Given the description of an element on the screen output the (x, y) to click on. 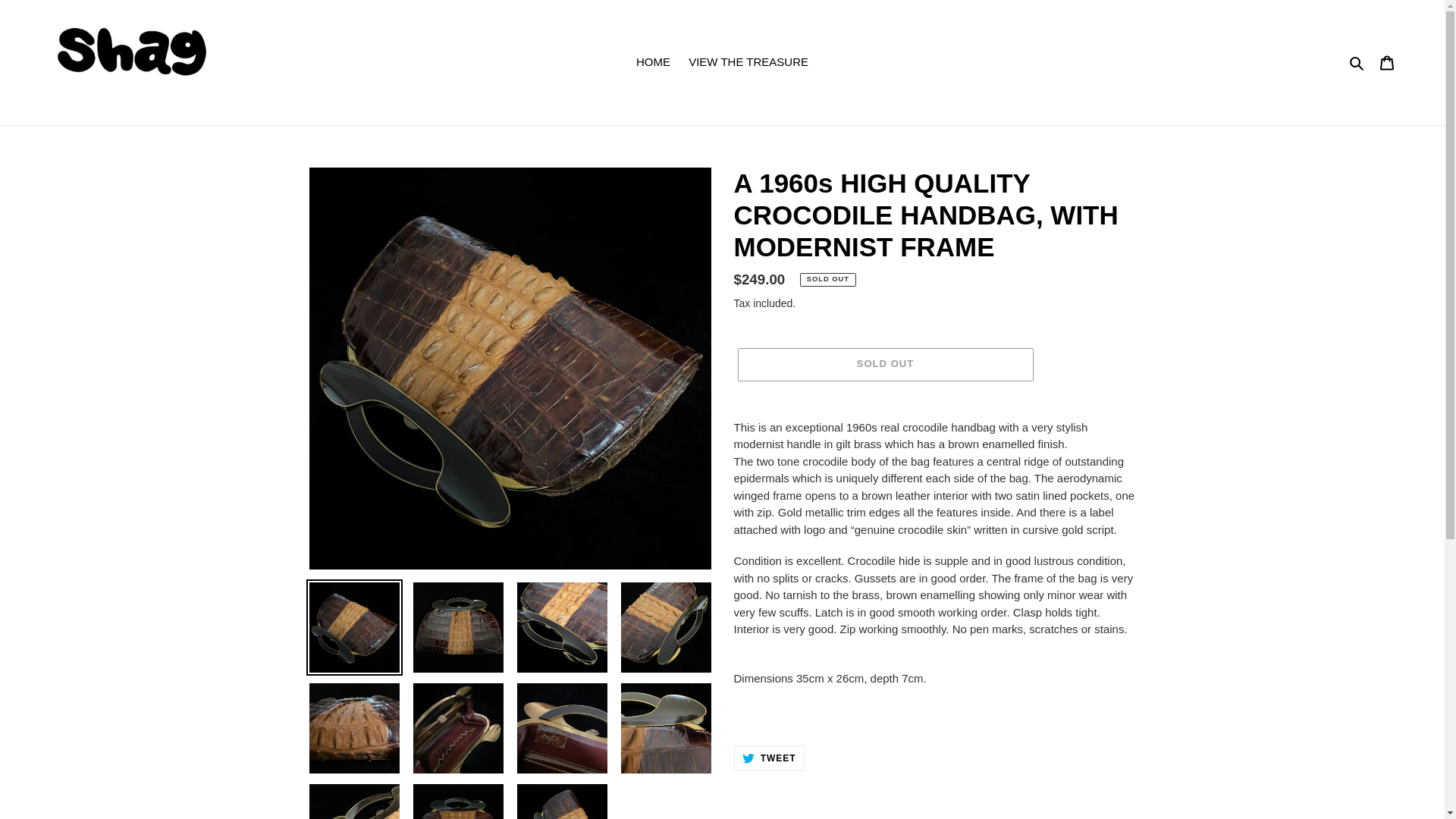
SOLD OUT (884, 364)
VIEW THE TREASURE (748, 62)
HOME (653, 62)
Cart (1387, 61)
Search (769, 758)
